Given the description of an element on the screen output the (x, y) to click on. 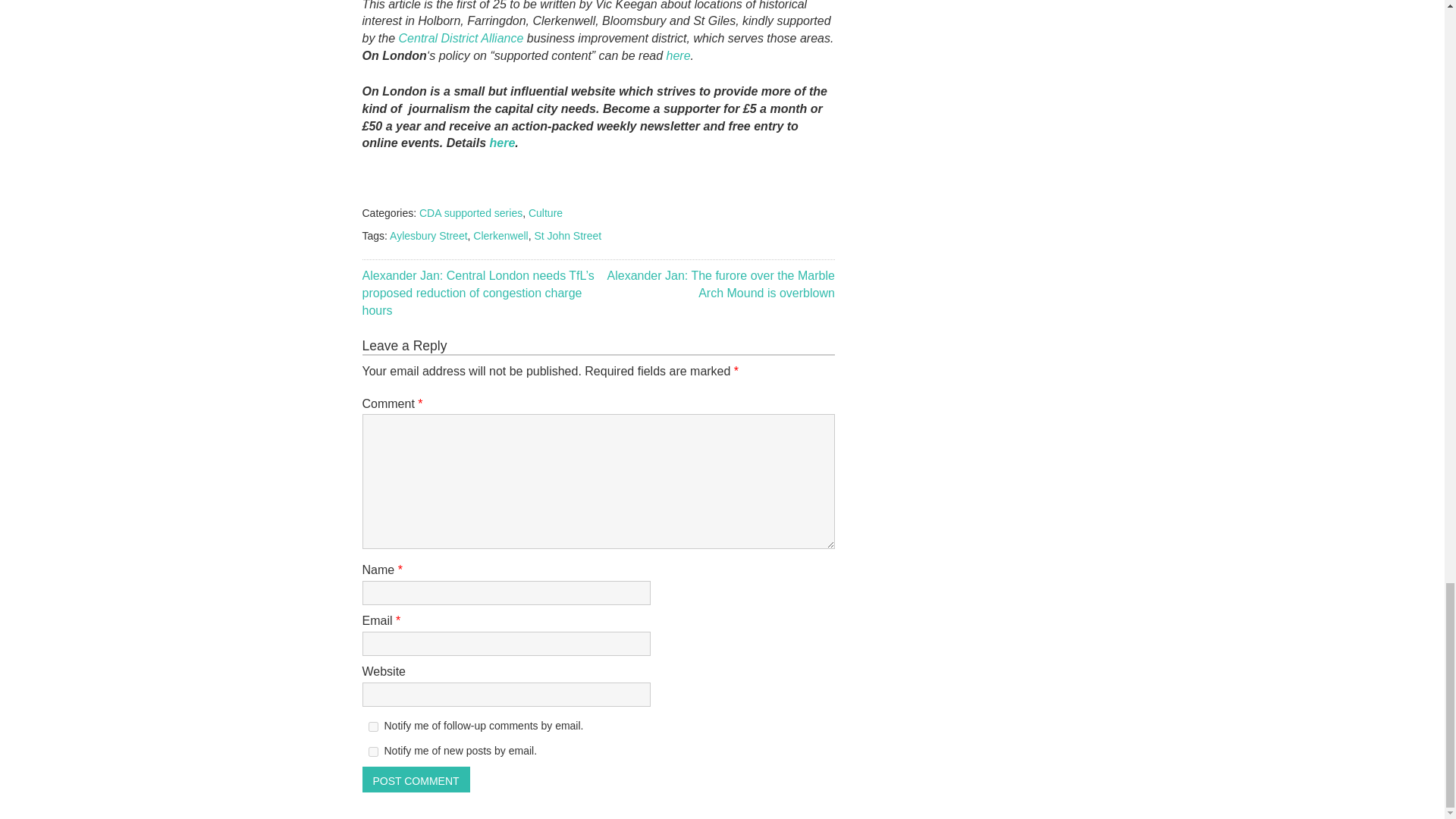
subscribe (373, 726)
Post Comment (416, 779)
subscribe (373, 751)
